Given the description of an element on the screen output the (x, y) to click on. 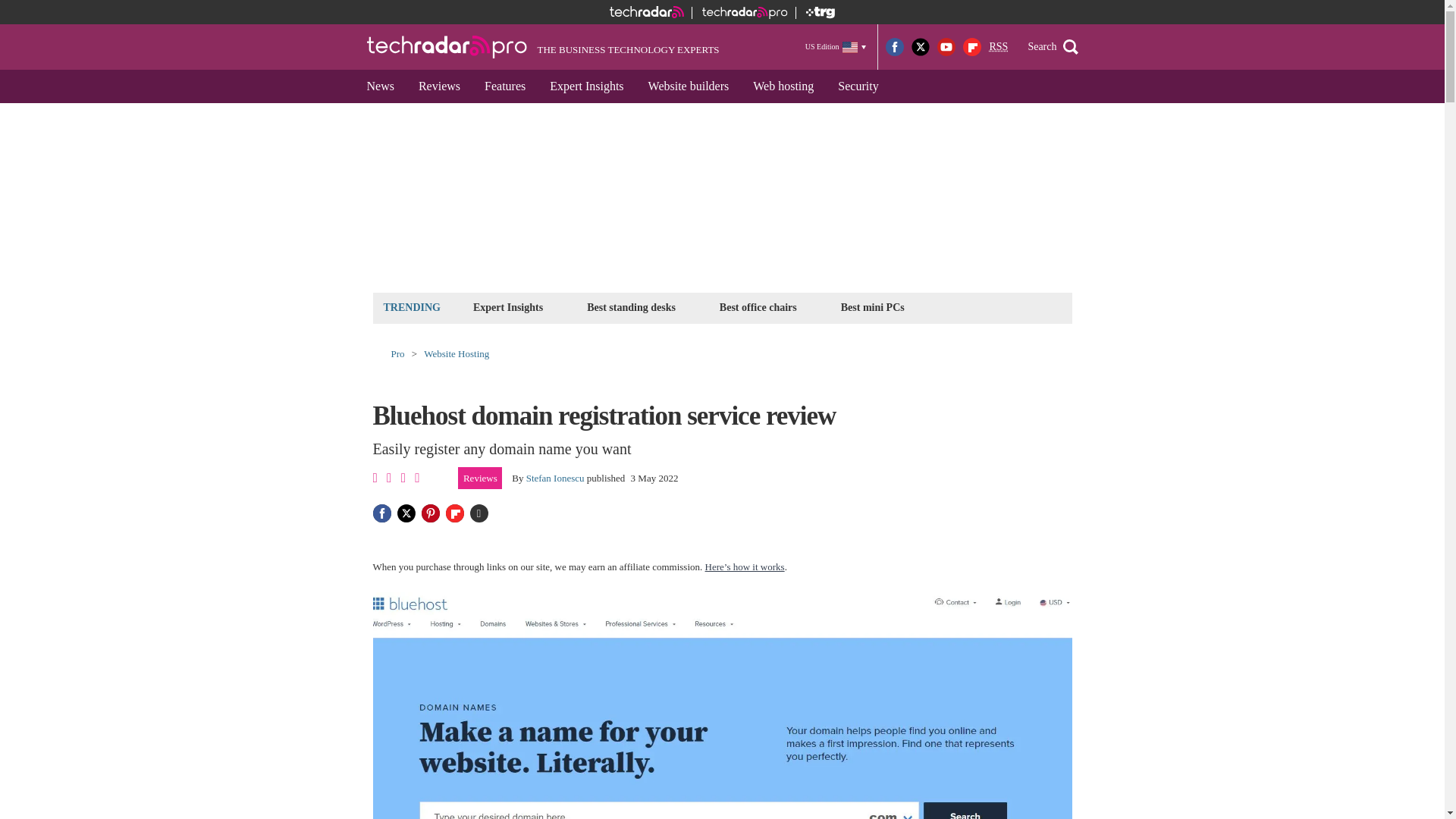
Best standing desks (630, 307)
Expert Insights (585, 86)
RSS (997, 46)
THE BUSINESS TECHNOLOGY EXPERTS (542, 46)
Features (504, 86)
Security (857, 86)
Reviews (438, 86)
Best office chairs (758, 307)
US Edition (836, 46)
News (380, 86)
Really Simple Syndication (997, 46)
Website builders (688, 86)
Web hosting (783, 86)
Expert Insights (507, 307)
